Given the description of an element on the screen output the (x, y) to click on. 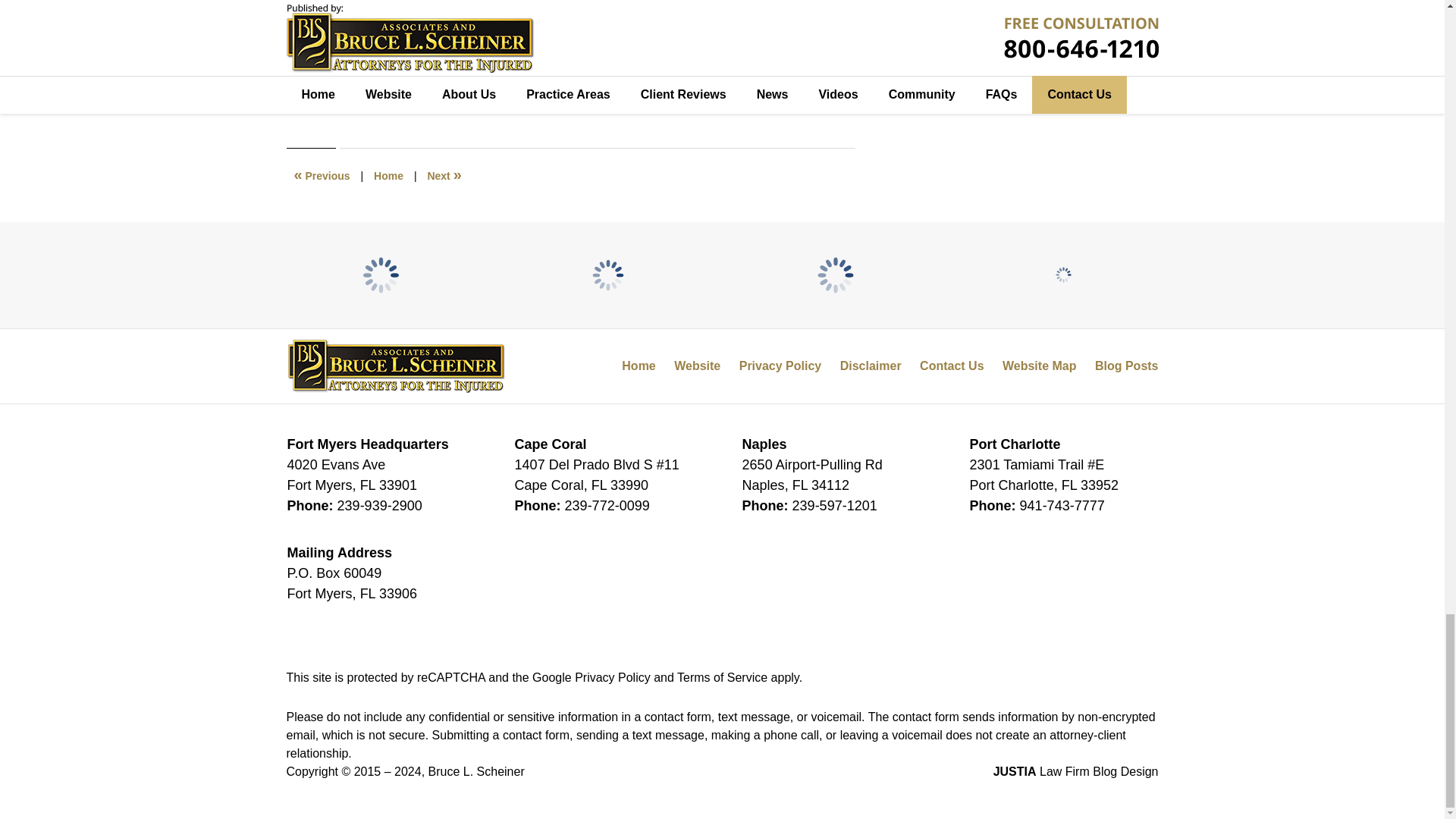
Nursing Home Abuse (390, 89)
View all posts in Nursing Home Abuse (390, 89)
Home (388, 175)
www.focusedonjustice.com (482, 55)
